Given the description of an element on the screen output the (x, y) to click on. 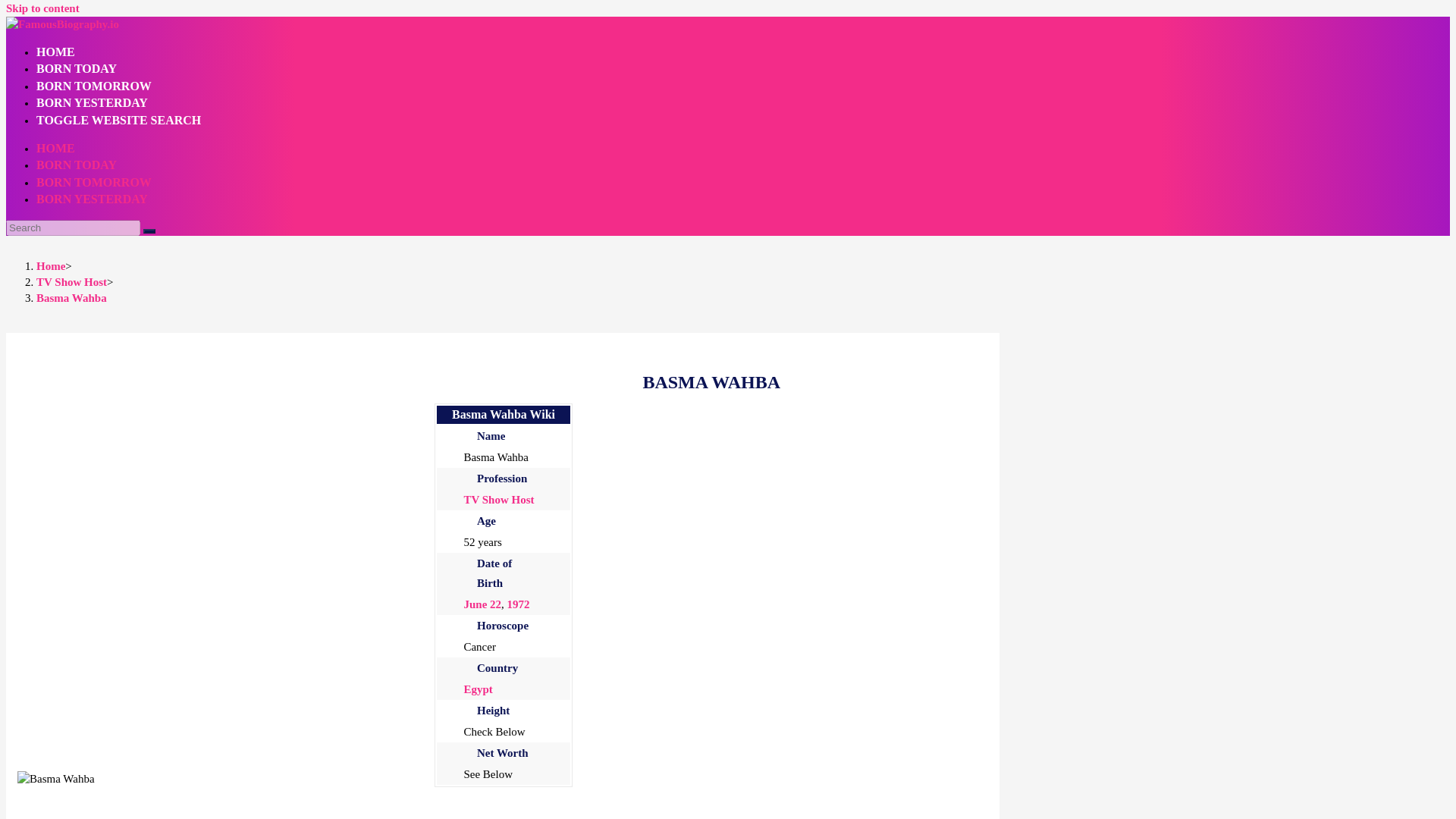
BORN TODAY (76, 68)
BORN YESTERDAY (92, 198)
TOGGLE WEBSITE SEARCH (118, 119)
Home (50, 265)
BORN TOMORROW (93, 182)
TV Show Host (71, 282)
HOME (55, 147)
TV Show Host (498, 499)
Basma Wahba (55, 779)
Basma Wahba (71, 297)
June 22 (481, 604)
BORN YESTERDAY (92, 102)
Skip to content (42, 8)
BORN TODAY (76, 164)
1972 (517, 604)
